Given the description of an element on the screen output the (x, y) to click on. 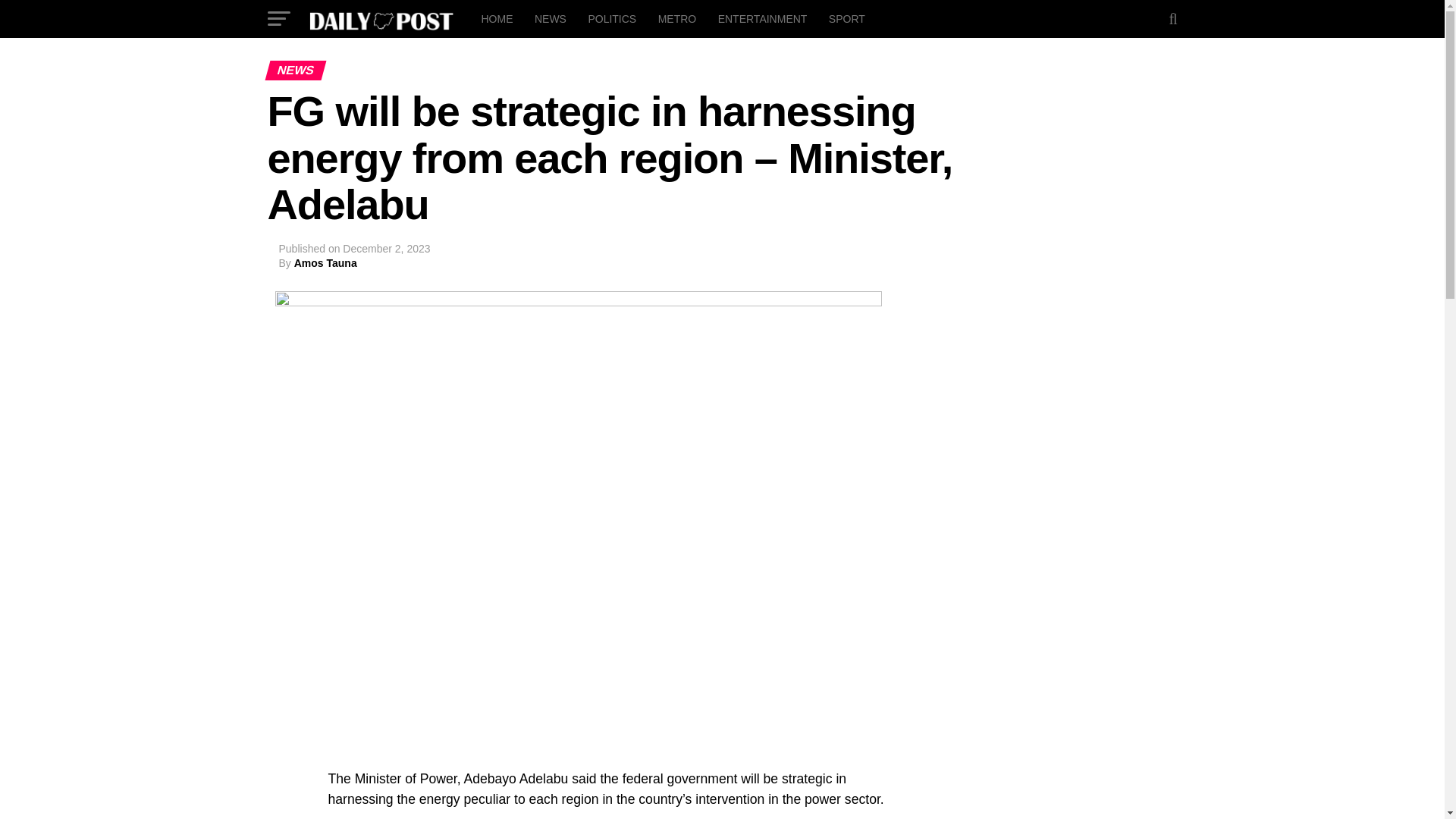
Amos Tauna (325, 263)
METRO (677, 18)
NEWS (550, 18)
HOME (496, 18)
Posts by Amos Tauna (325, 263)
POLITICS (611, 18)
SPORT (847, 18)
ENTERTAINMENT (762, 18)
